Given the description of an element on the screen output the (x, y) to click on. 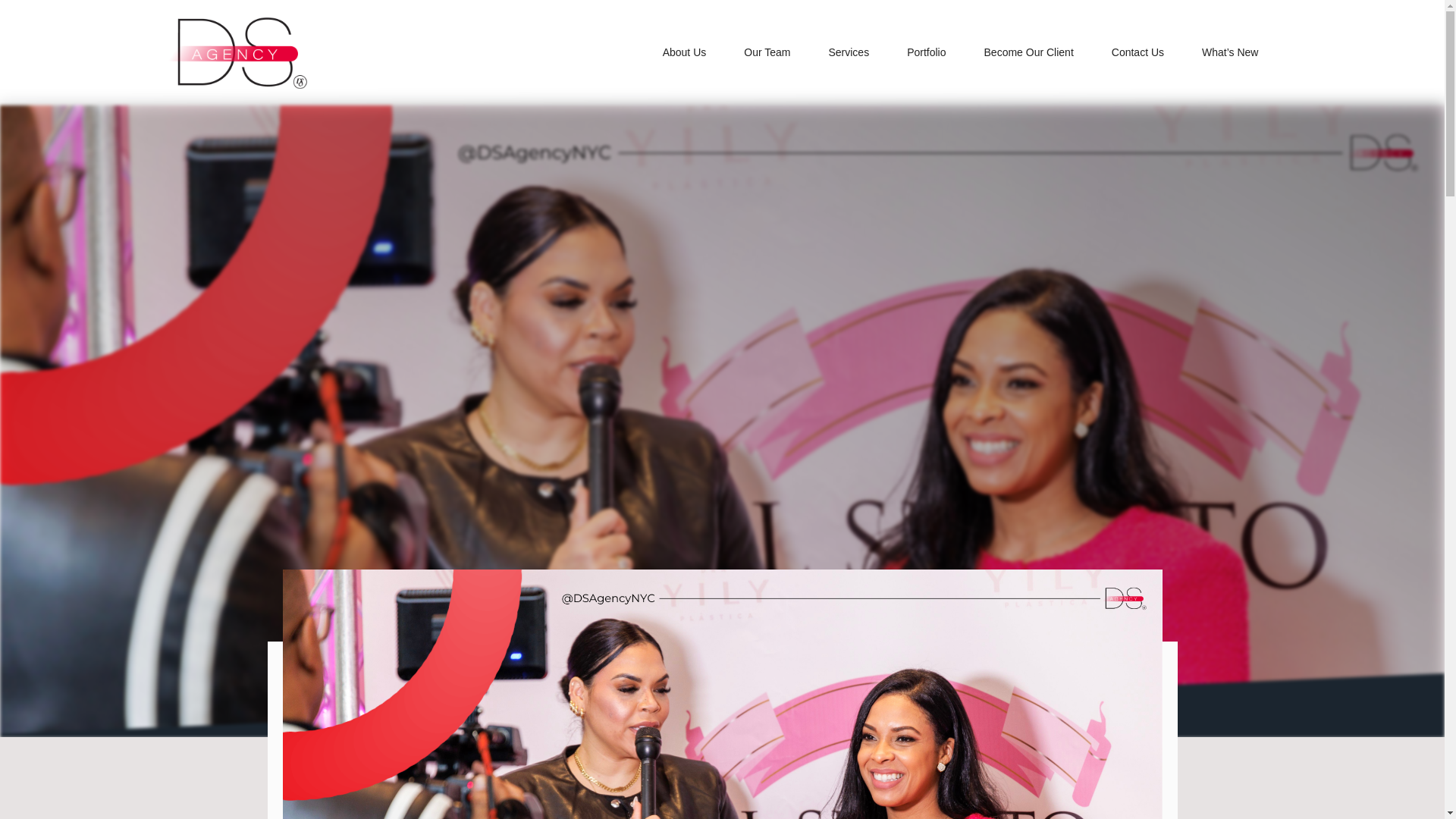
Services (847, 52)
Become Our Client (1029, 52)
Our Team (767, 52)
About Us (684, 52)
Portfolio (925, 52)
Contact Us (1137, 52)
